Given the description of an element on the screen output the (x, y) to click on. 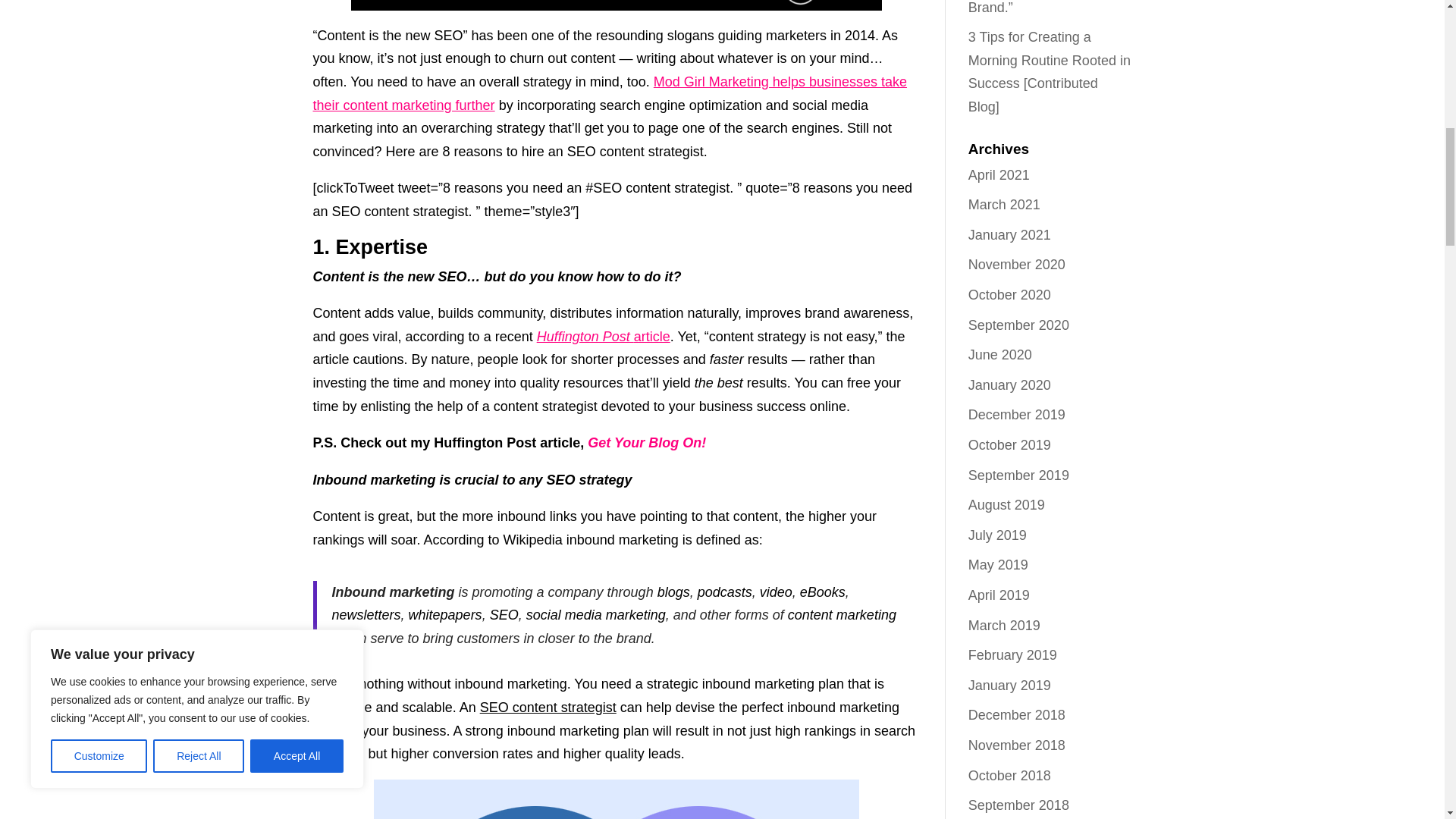
Inbound marketing (392, 591)
Get Your Blog On! (647, 442)
SEO-Content-Strategist-Mandy-McEwen (616, 5)
Huffington Post article (603, 336)
